Given the description of an element on the screen output the (x, y) to click on. 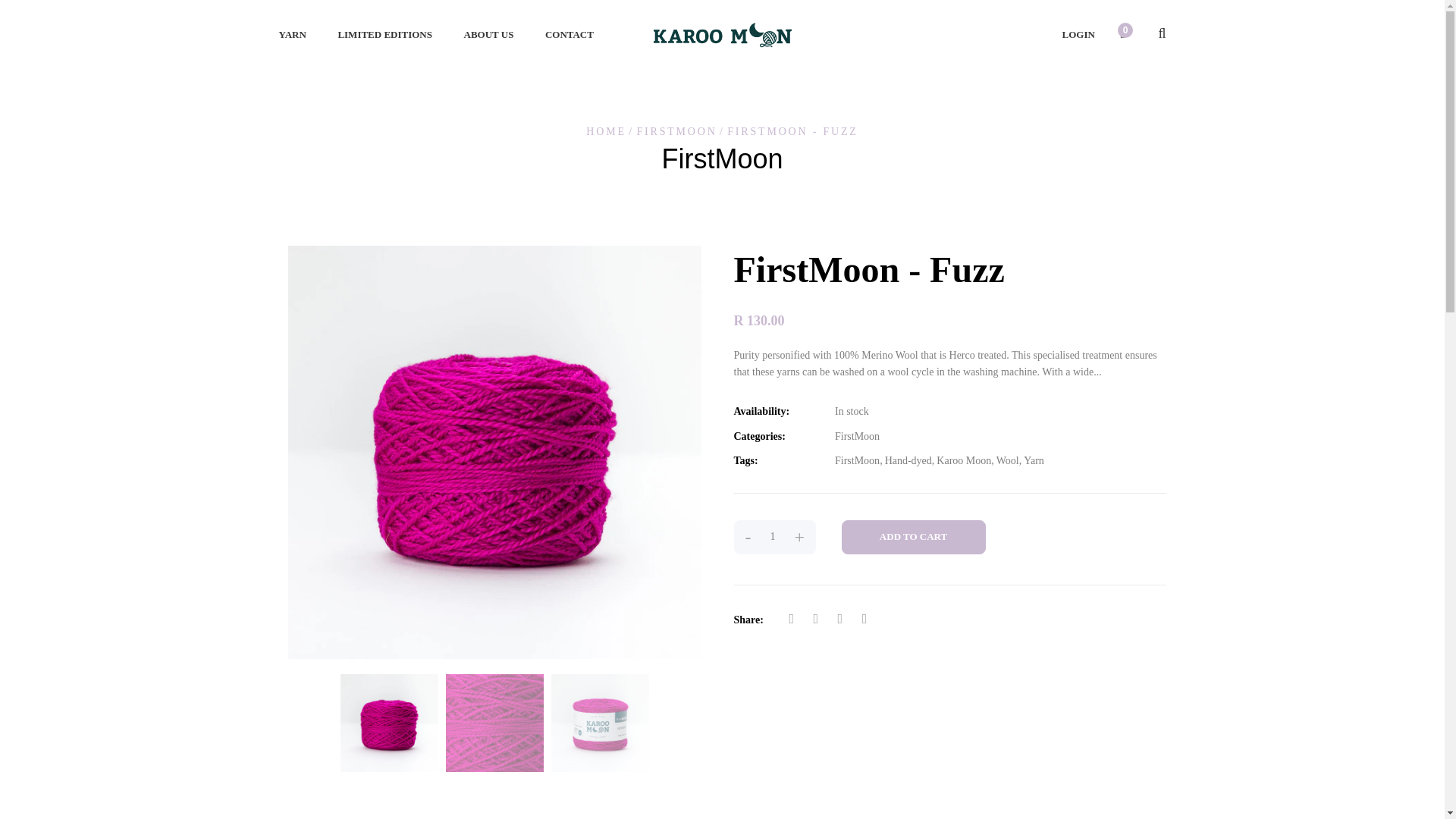
Yarn (1033, 460)
Share this post on Google Plus (840, 618)
Wool (1007, 460)
CONTACT (569, 41)
LOGIN (1078, 34)
FirstMoon (856, 436)
Share this post on Twitter (815, 618)
Qty (772, 537)
HOME (606, 131)
FirstMoon (856, 460)
Share this post on Facebook (791, 618)
Hand-dyed (908, 460)
FIRSTMOON (676, 131)
ABOUT US (487, 41)
Share this post on Pinterest (864, 618)
